Given the description of an element on the screen output the (x, y) to click on. 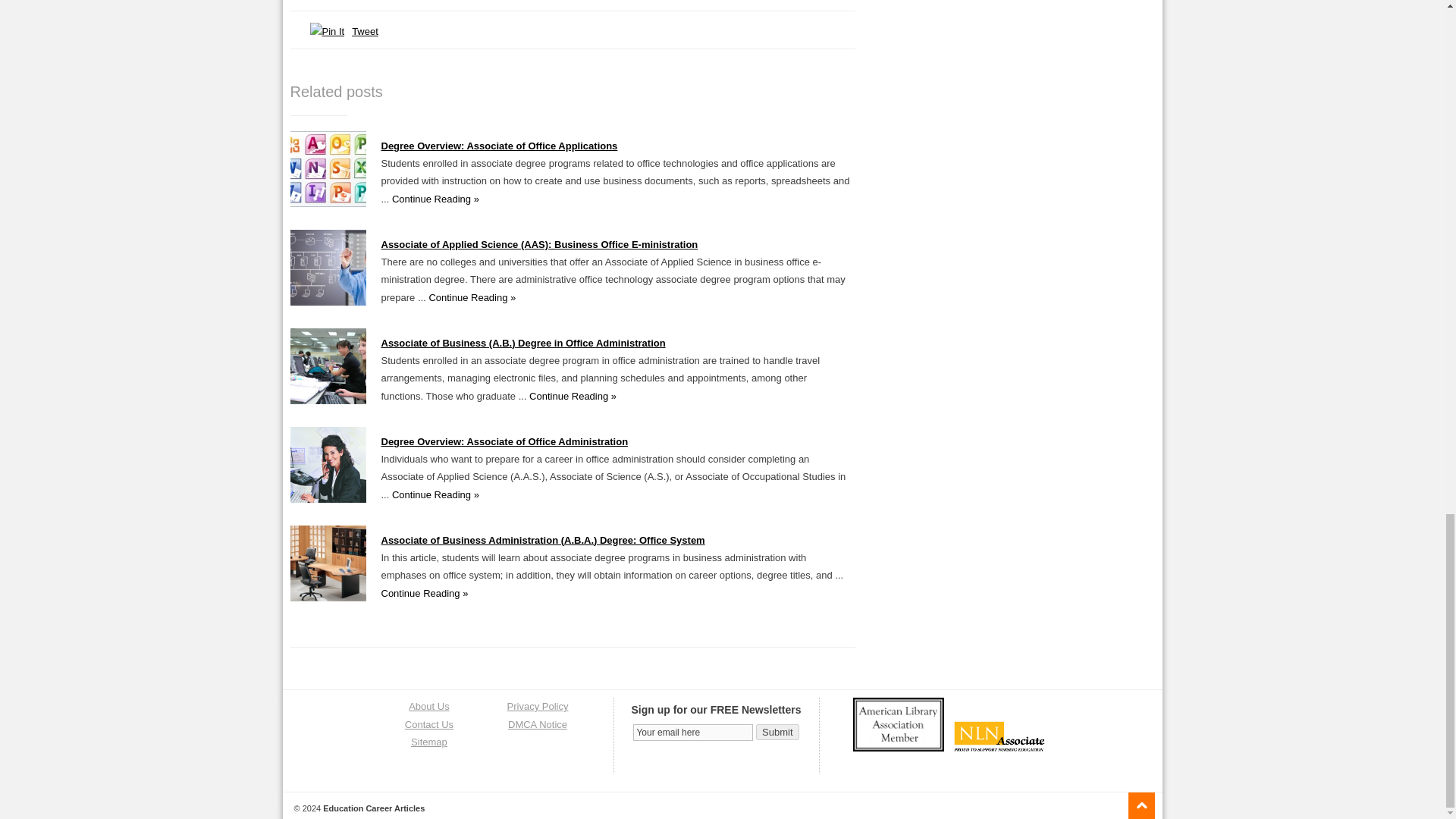
Degree Overview: Associate of Office Applications (498, 145)
Submit (776, 731)
Pin It (325, 31)
Degree Overview: Associate of Office Administration (327, 499)
Tweet (365, 30)
Your email here (692, 732)
Degree Overview: Associate of Office Applications (327, 203)
